Given the description of an element on the screen output the (x, y) to click on. 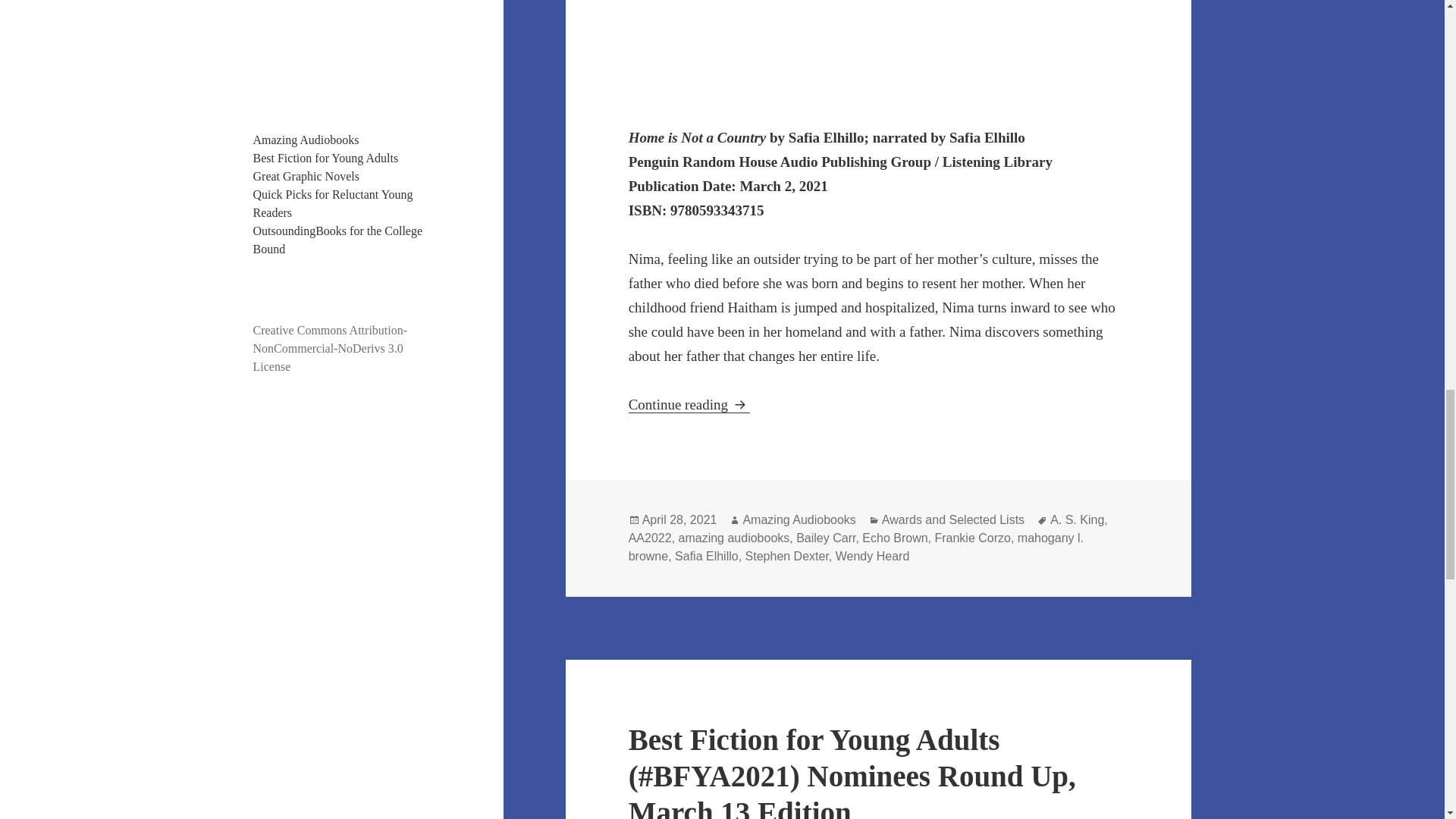
Amazing Audiobooks (306, 139)
Best Fiction for Young Adults (325, 157)
Quick Picks for Reluctant Young Readers (333, 203)
Great Graphic Novels (306, 175)
OutsoundingBooks for the College Bound (338, 239)
